Given the description of an element on the screen output the (x, y) to click on. 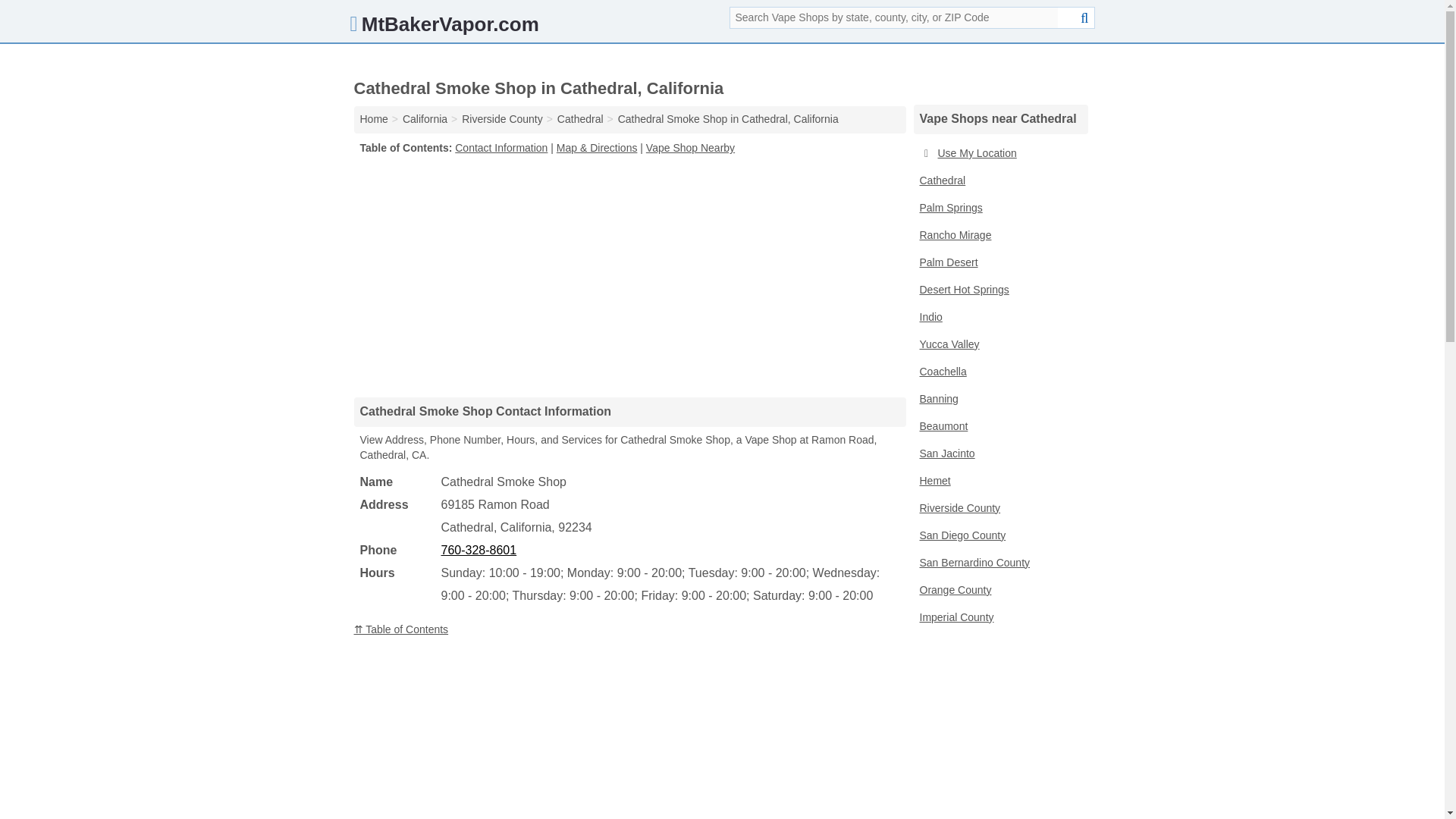
Palm Springs (999, 207)
San Jacinto (999, 453)
Cathedral Smoke Shop in Cathedral, California (727, 119)
Riverside County (502, 119)
Riverside County (999, 508)
Cathedral (580, 119)
Yucca Valley (999, 344)
MtBakerVapor.com (444, 27)
Home (373, 119)
Beaumont (999, 426)
